Given the description of an element on the screen output the (x, y) to click on. 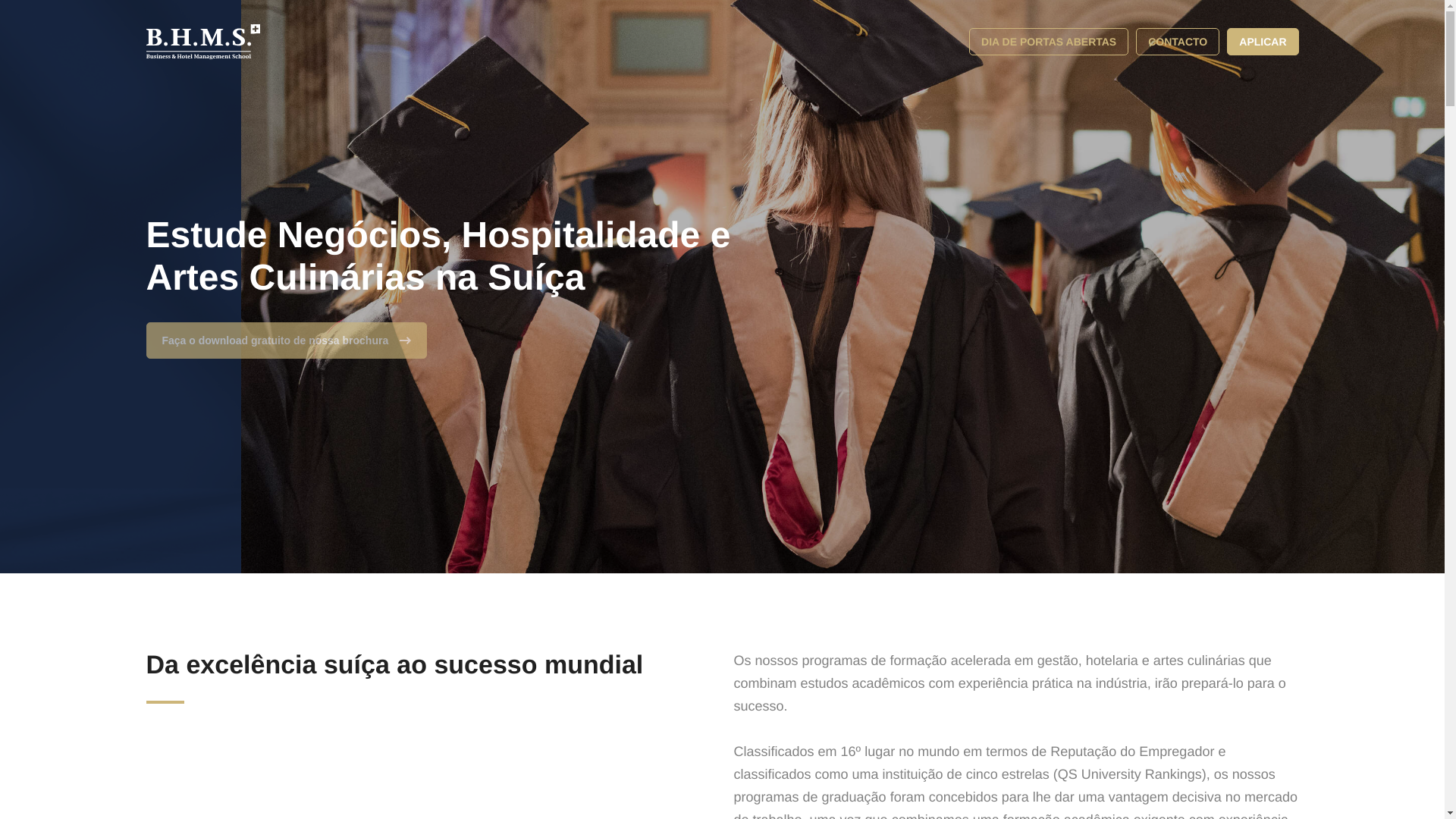
APLICAR (1262, 41)
DIA DE PORTAS ABERTAS (1048, 41)
BHMS (202, 41)
CONTACTO (1177, 41)
